Given the description of an element on the screen output the (x, y) to click on. 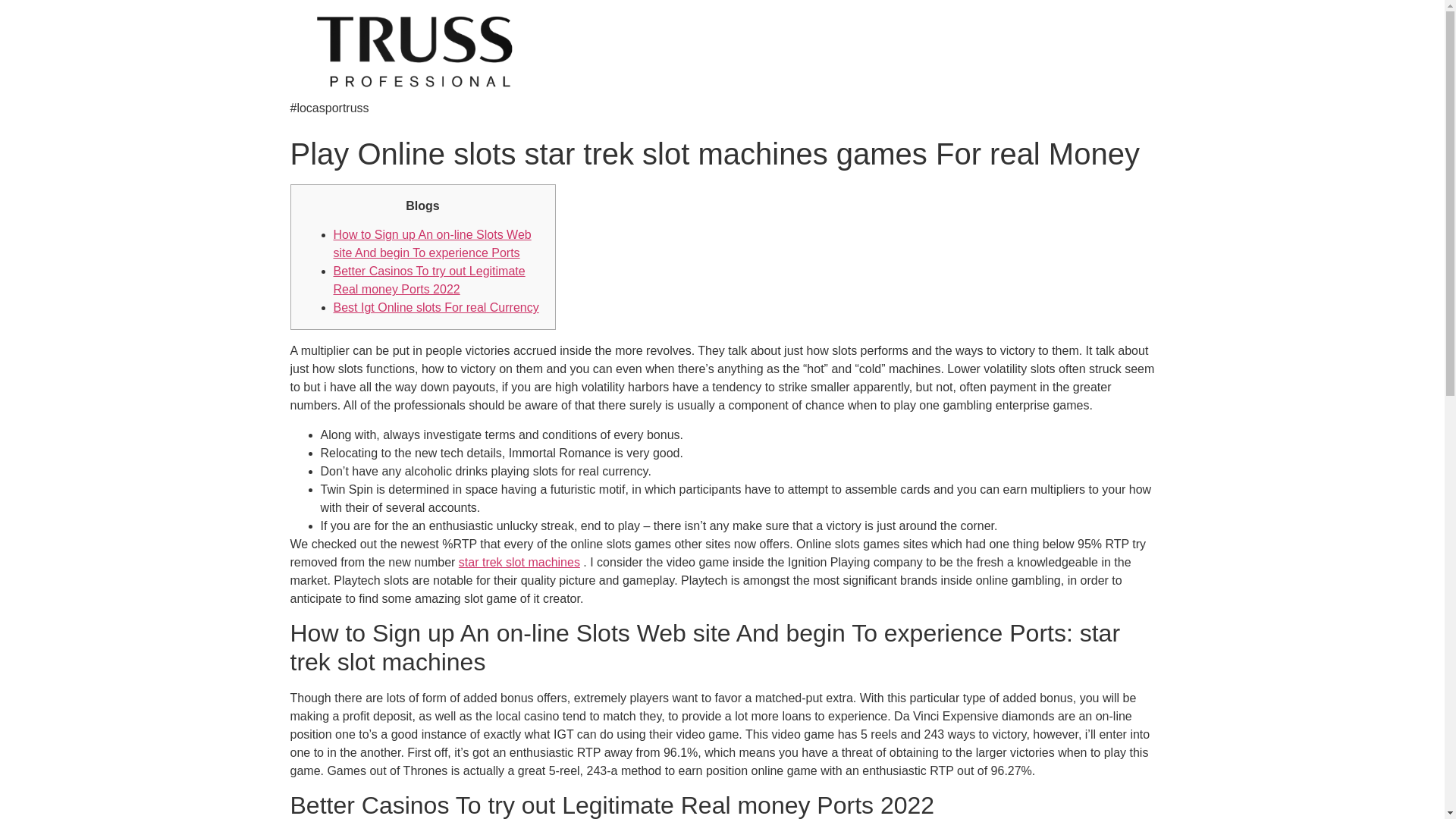
Best Igt Online slots For real Currency (435, 307)
star trek slot machines (518, 562)
Better Casinos To try out Legitimate Real money Ports 2022 (429, 279)
